Given the description of an element on the screen output the (x, y) to click on. 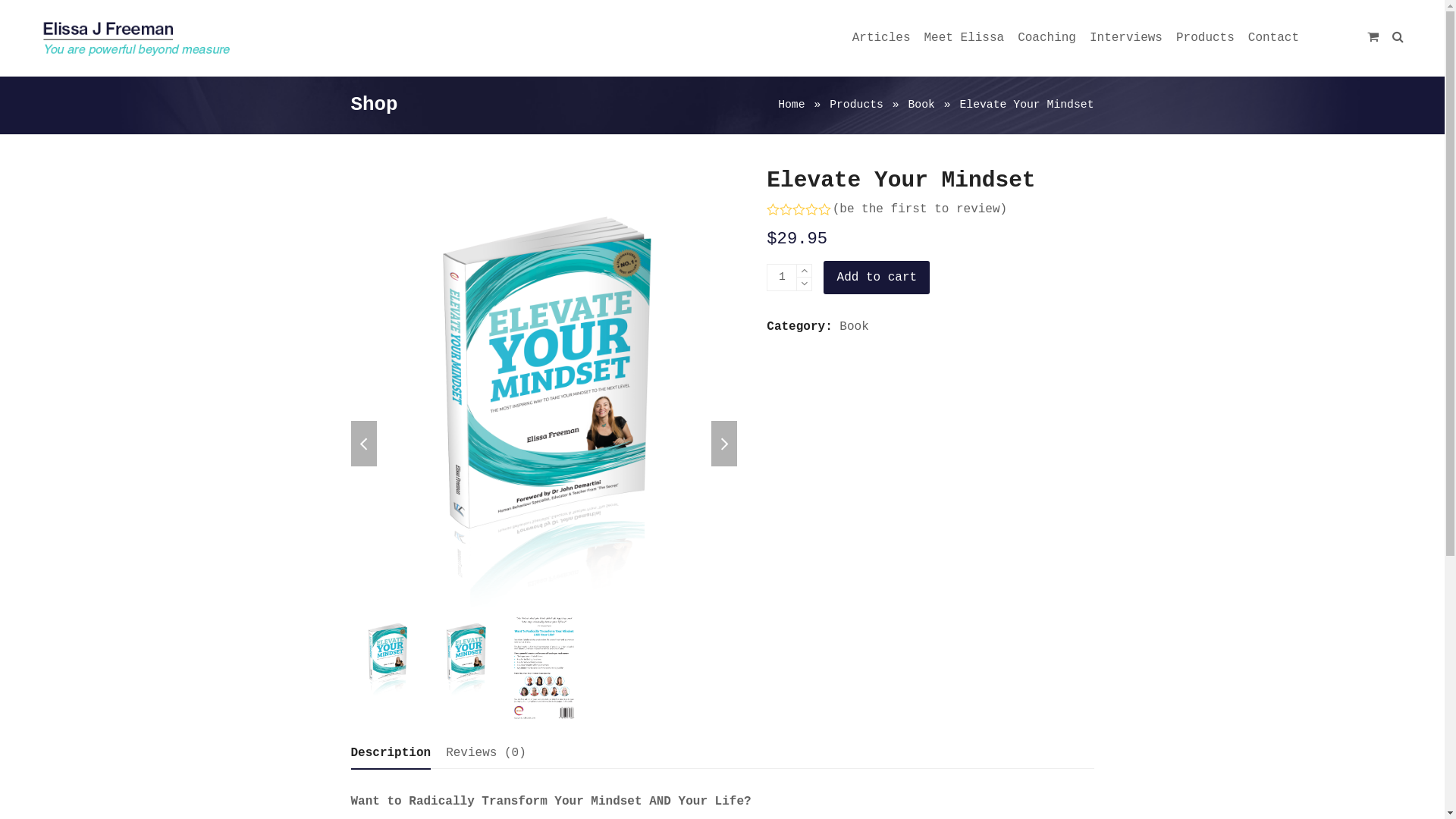
previous slide Element type: text (363, 443)
Add to cart Element type: text (876, 277)
Coaching Element type: text (1046, 37)
Products Element type: text (856, 104)
next slide Element type: text (724, 443)
Book Element type: text (921, 104)
Qty Element type: hover (781, 277)
Contact Element type: text (1273, 37)
Book Element type: text (853, 326)
be the first to review Element type: text (919, 209)
Home Element type: text (791, 104)
Reviews (0) Element type: text (485, 752)
AEF1442+-+EYM+Cover+Elissa+HR Element type: hover (543, 386)
Interviews Element type: text (1125, 37)
Meet Elissa Element type: text (964, 37)
Articles Element type: text (881, 37)
Description Element type: text (390, 753)
Products Element type: text (1205, 37)
